Given the description of an element on the screen output the (x, y) to click on. 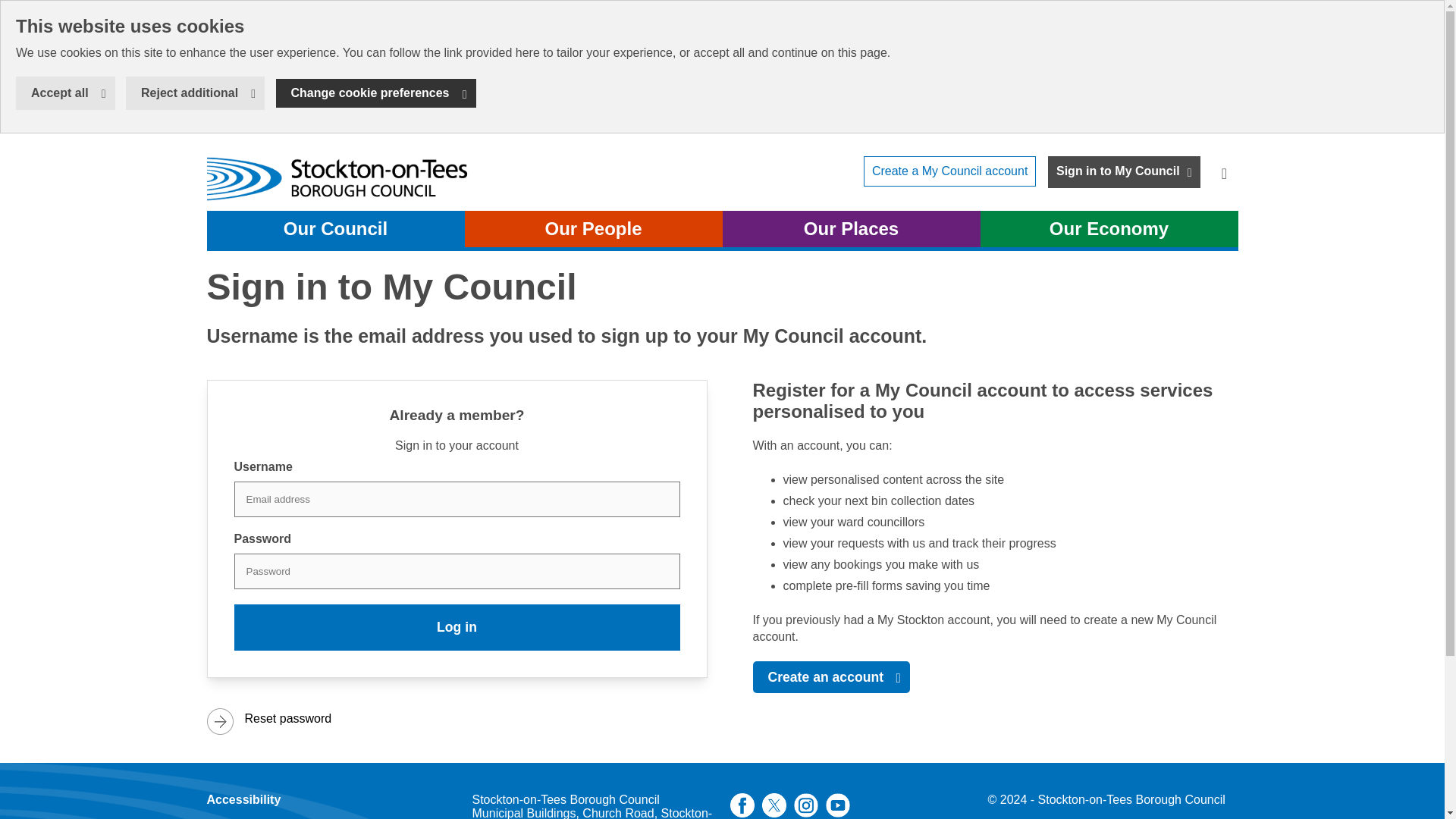
Change cookie preferences (376, 92)
Create an account (831, 676)
Reset password (429, 718)
Our Places (850, 228)
Search this website (1223, 171)
Create a My Council account (338, 178)
Log in (949, 171)
Accept all (455, 627)
Stockton Council - Instagram (65, 92)
